Given the description of an element on the screen output the (x, y) to click on. 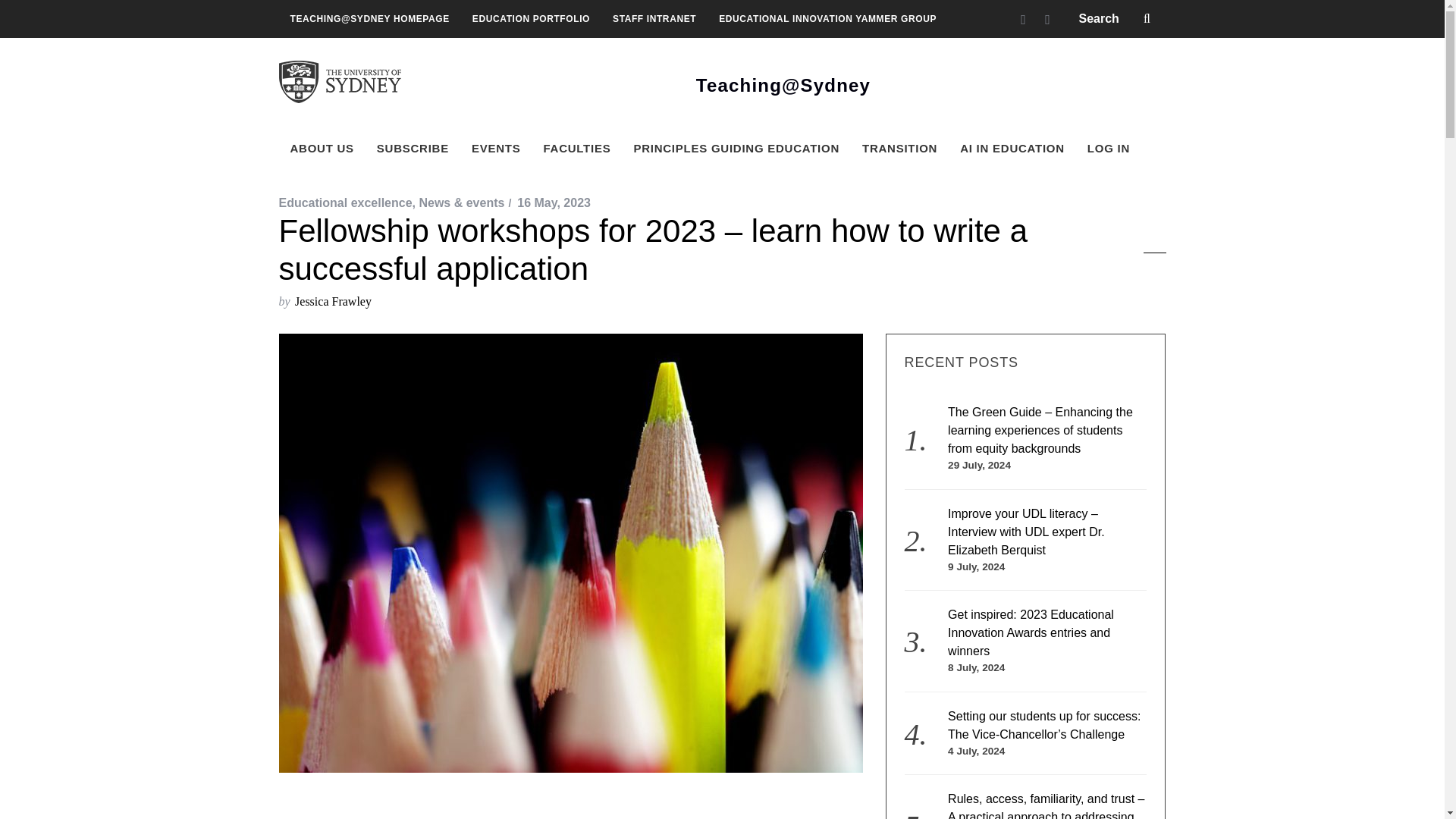
Search (1116, 18)
EDUCATION PORTFOLIO (531, 18)
STAFF INTRANET (654, 18)
EDUCATIONAL INNOVATION YAMMER GROUP (827, 18)
ABOUT US (322, 148)
Posts by Jessica Frawley (333, 300)
